Given the description of an element on the screen output the (x, y) to click on. 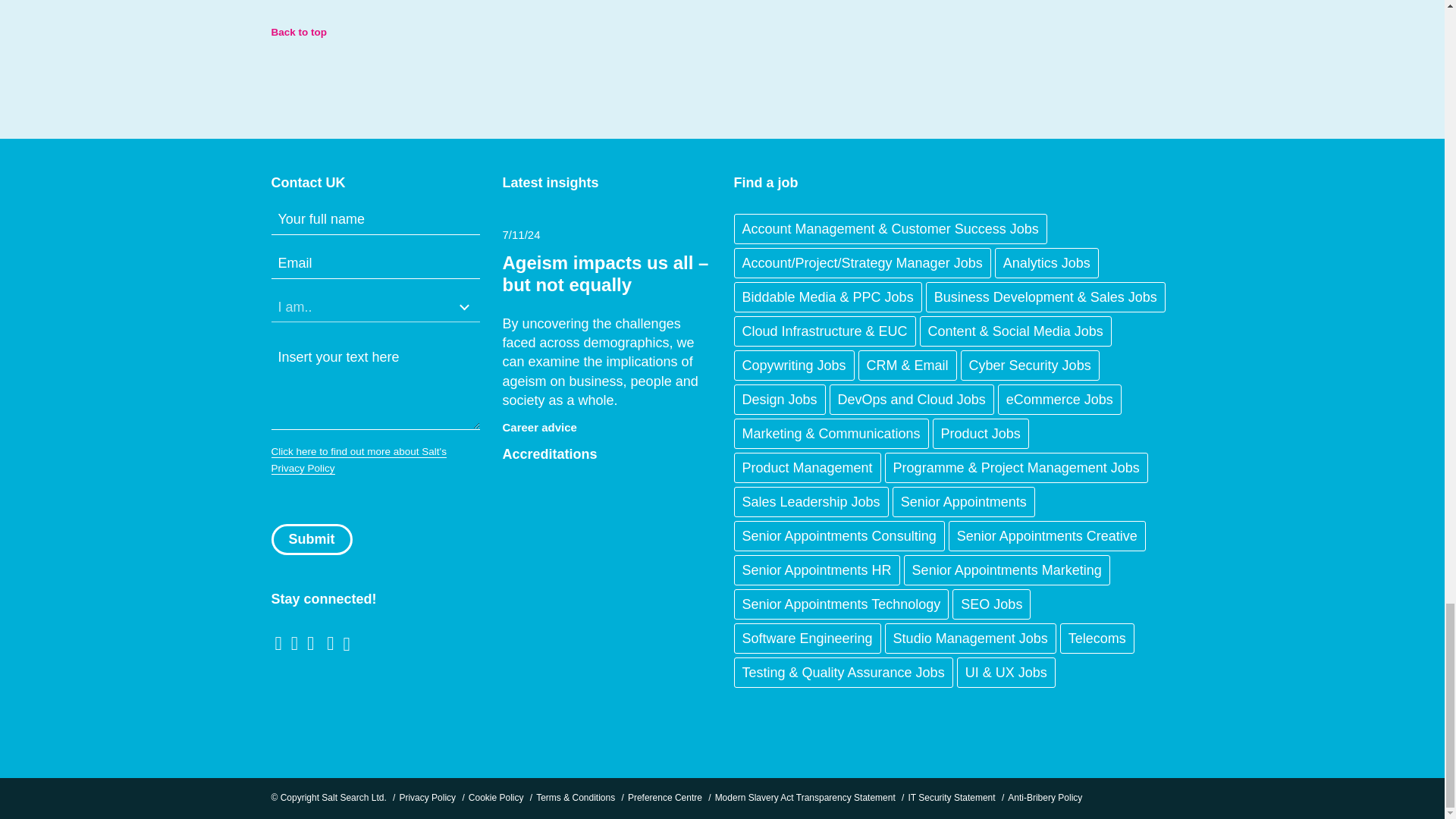
Submit (311, 539)
